Given the description of an element on the screen output the (x, y) to click on. 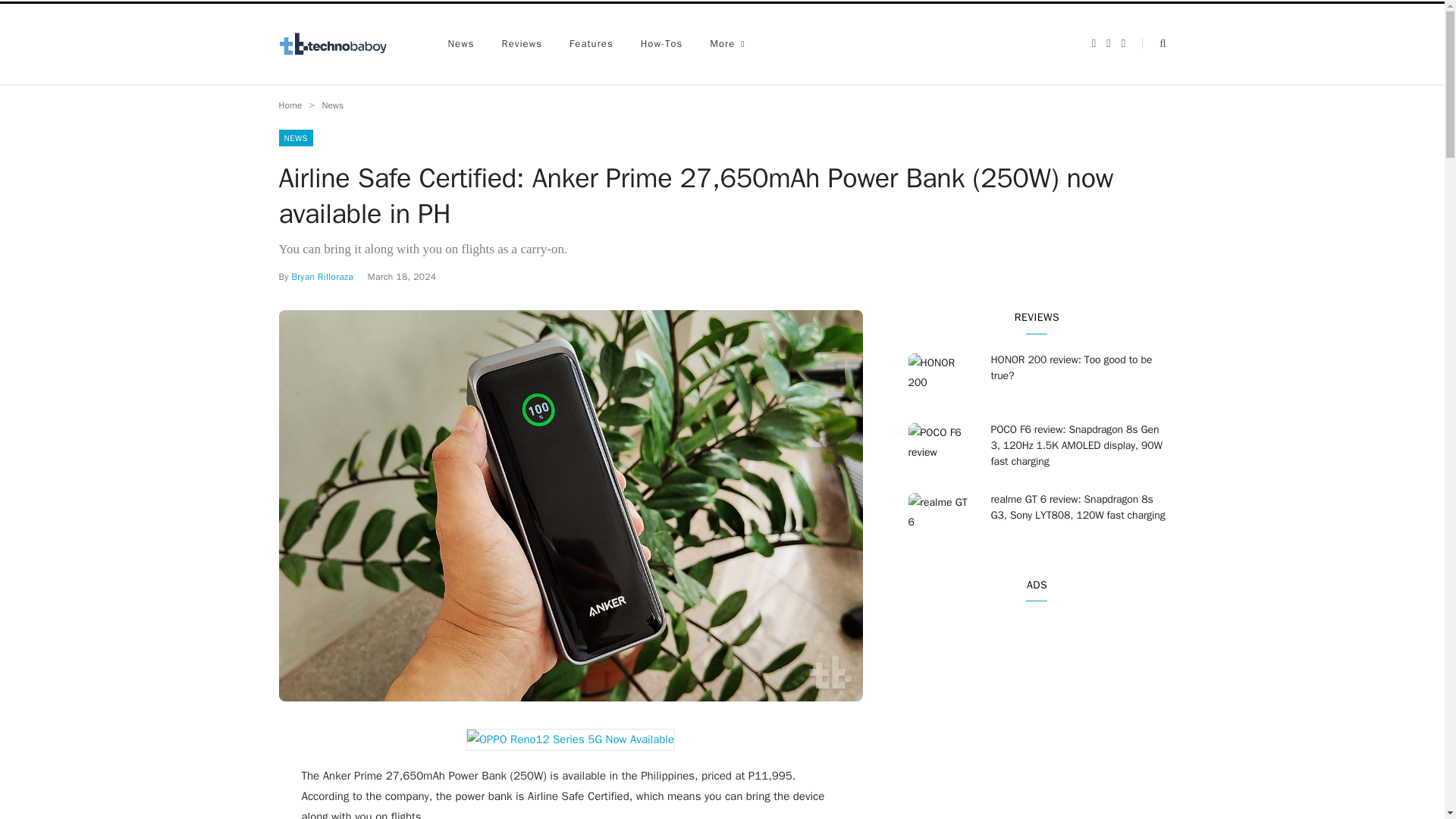
NEWS (296, 137)
Home (290, 105)
Technobaboy (339, 43)
Bryan Rilloraza (322, 276)
News (332, 105)
Posts by Bryan Rilloraza (322, 276)
Search (1153, 43)
March 18, 2024 (402, 276)
